Given the description of an element on the screen output the (x, y) to click on. 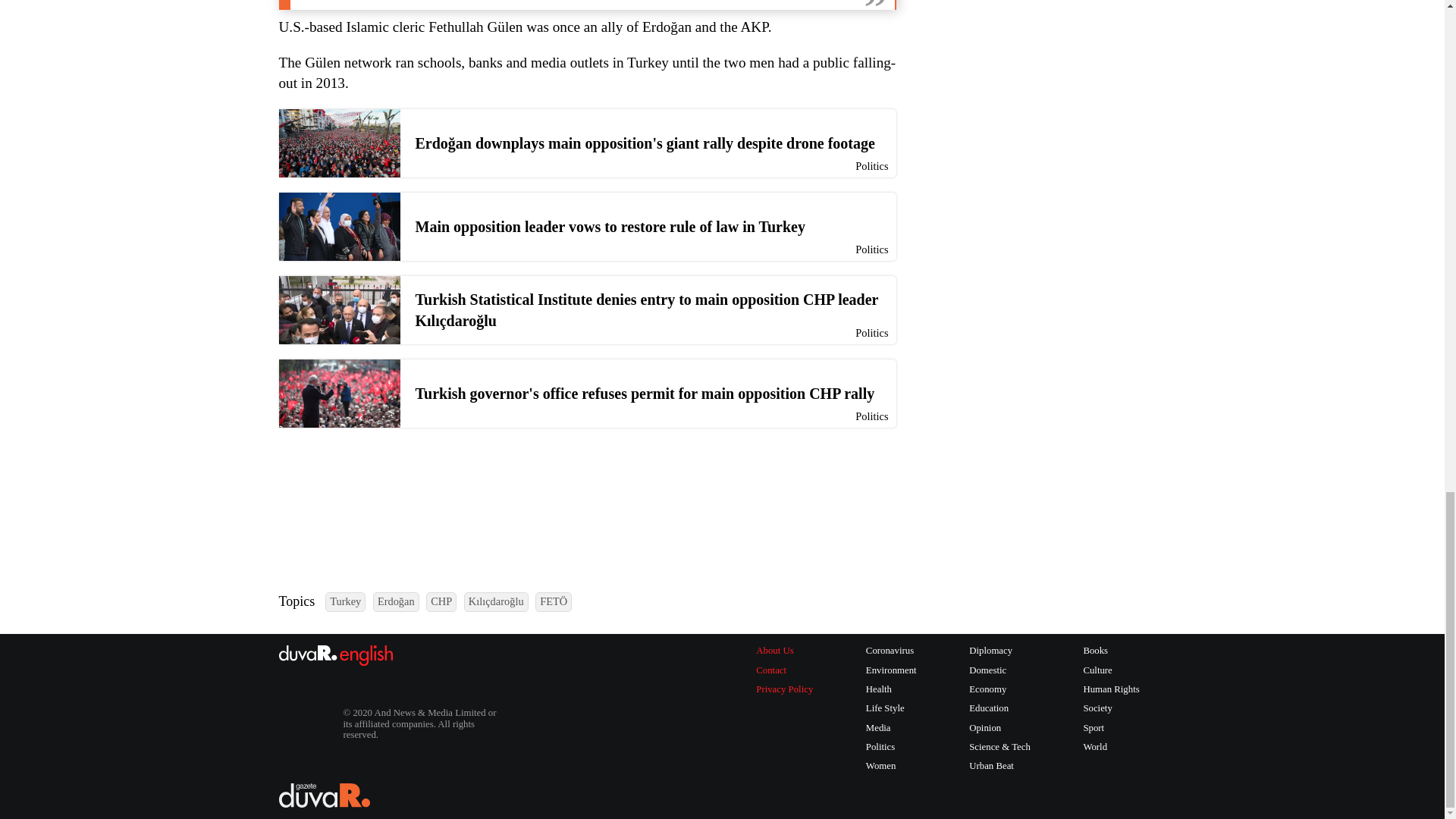
Main opposition leader vows to restore rule of law in Turkey (587, 226)
About Us (783, 650)
Turkey (344, 601)
CHP (441, 601)
Turkey (344, 601)
